Given the description of an element on the screen output the (x, y) to click on. 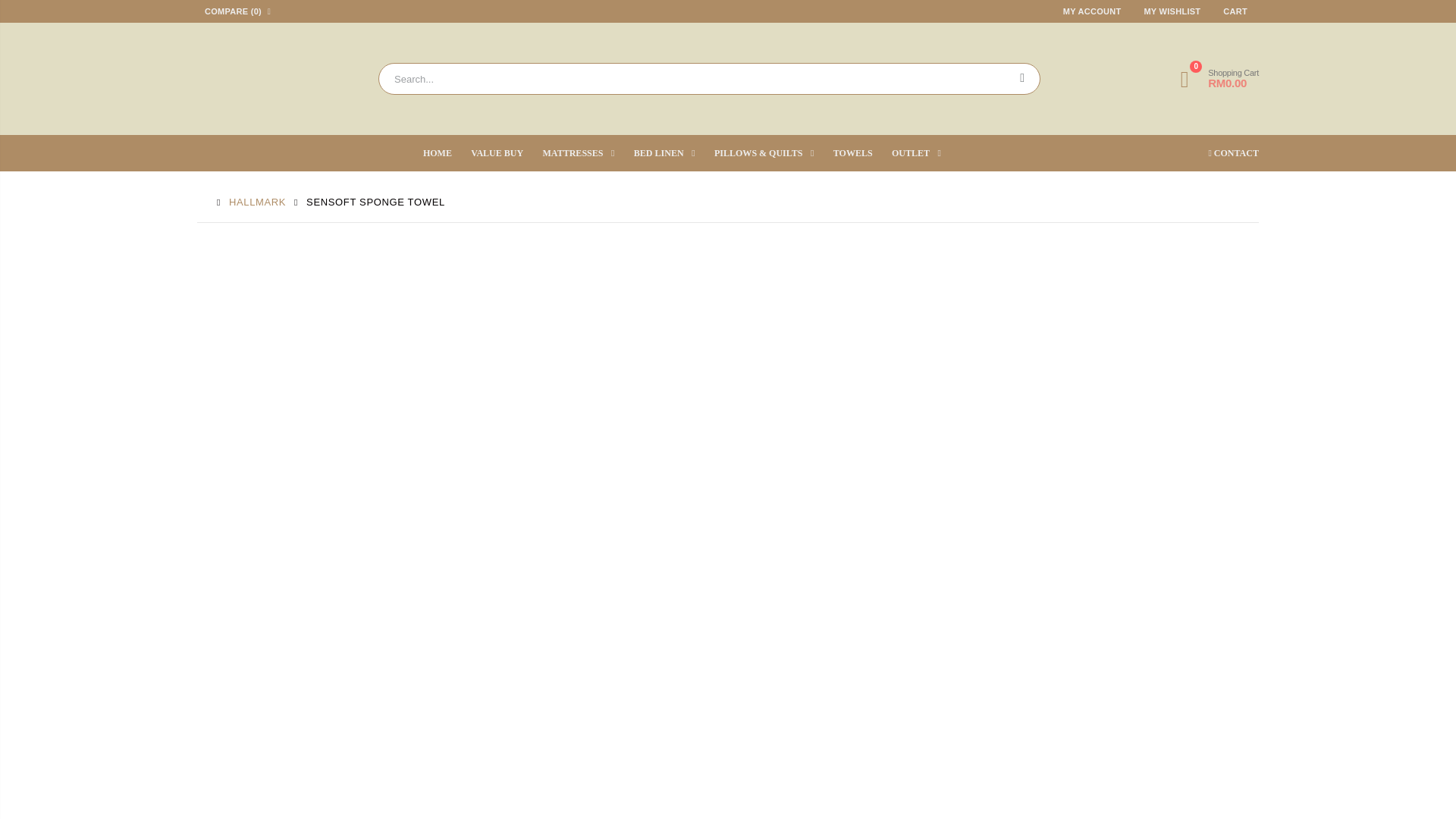
TOWELS (860, 153)
MATTRESSES (1216, 78)
CART (587, 153)
BED LINEN (1235, 11)
CONTACT (672, 153)
HOME (1221, 153)
MY ACCOUNT (445, 153)
VALUE BUY (1091, 11)
Search (505, 153)
